Given the description of an element on the screen output the (x, y) to click on. 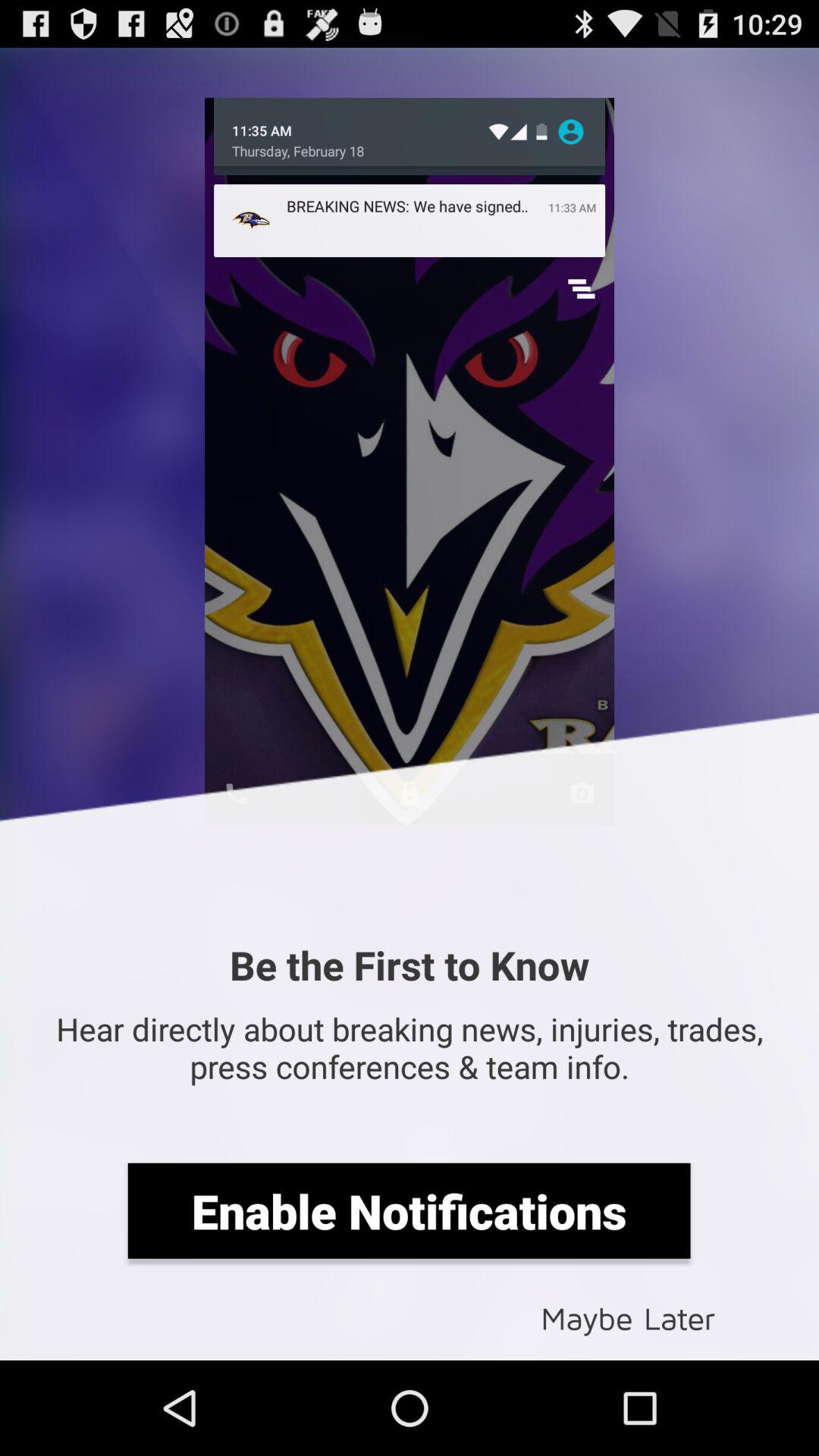
click item below the enable notifications icon (627, 1317)
